Given the description of an element on the screen output the (x, y) to click on. 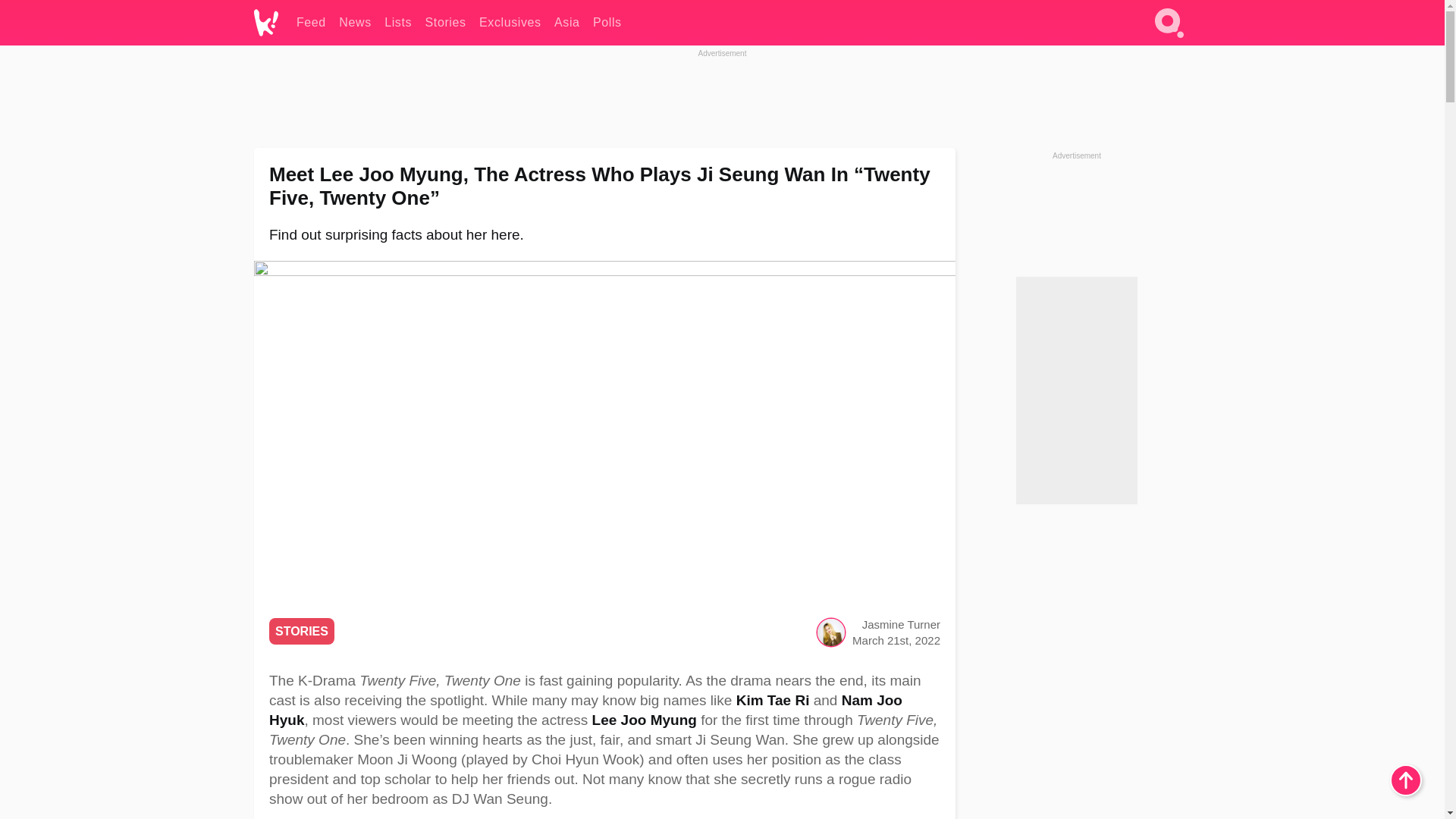
Jasmine Turner (900, 624)
Stories (445, 22)
Exclusives (510, 22)
STORIES (301, 631)
